Given the description of an element on the screen output the (x, y) to click on. 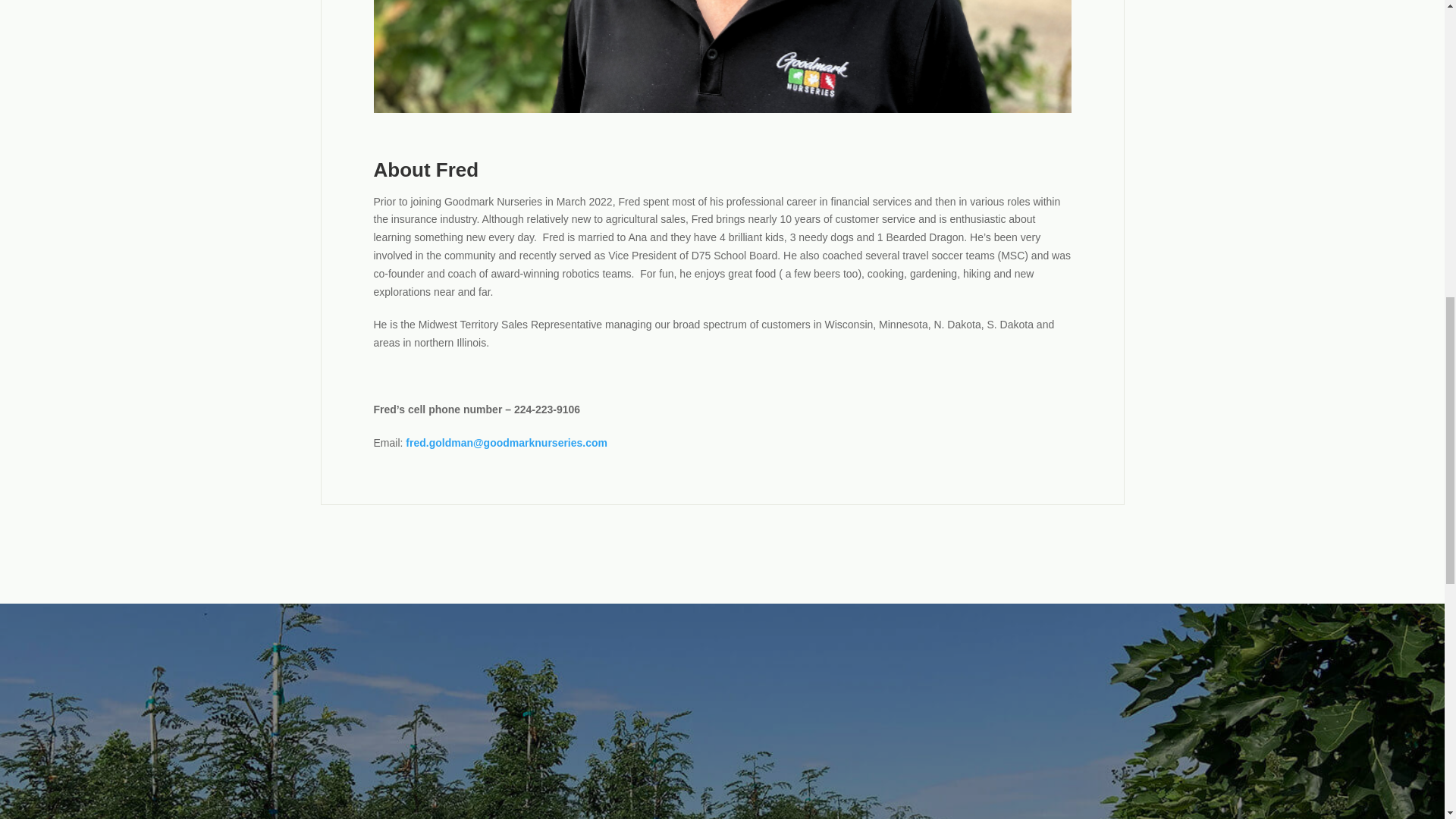
Fred Goldman (721, 56)
